Given the description of an element on the screen output the (x, y) to click on. 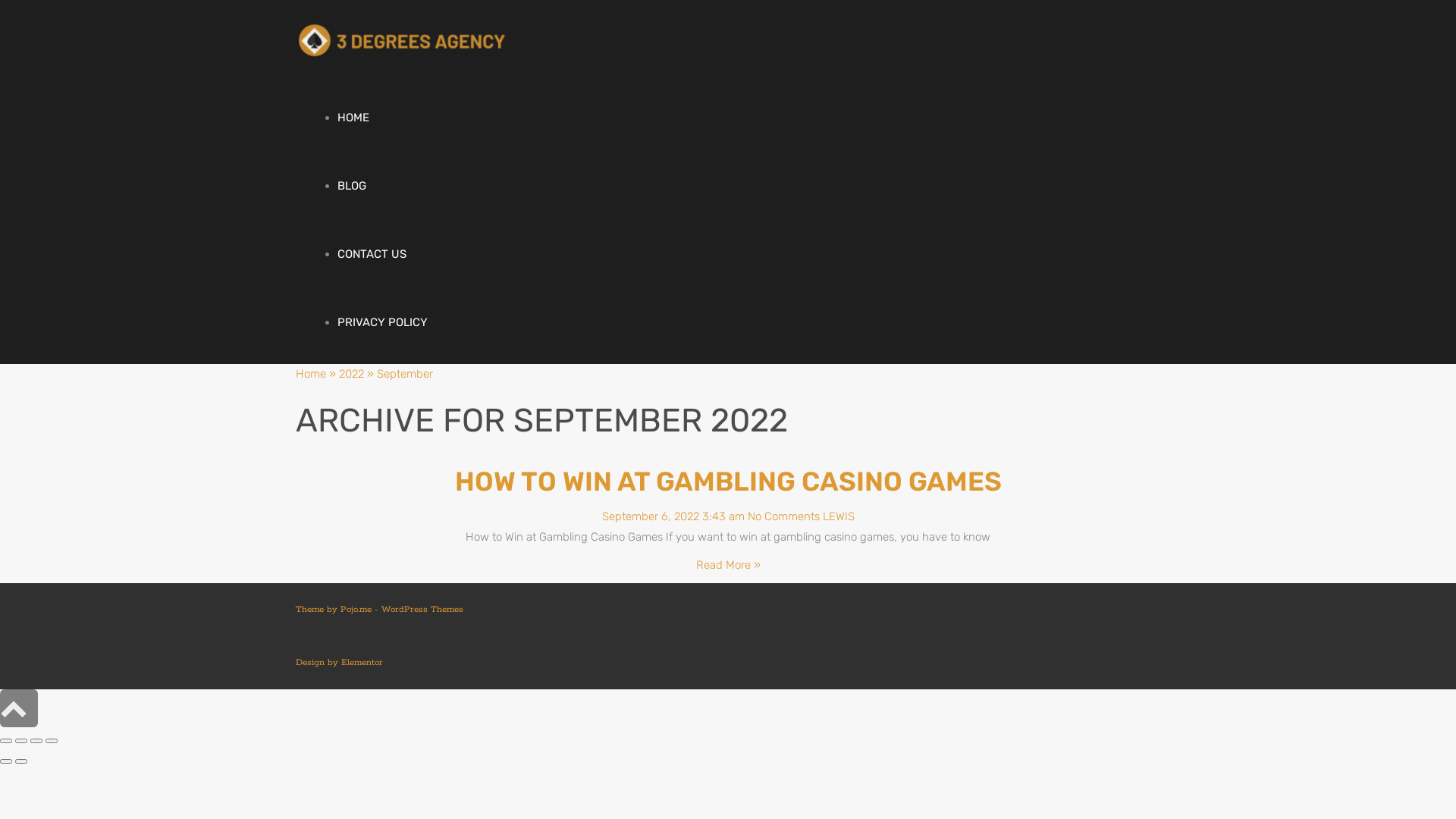
Pojo.me Element type: text (355, 609)
Scroll to top Element type: text (13, 707)
CONTACT US Element type: text (371, 253)
Share Element type: hover (21, 740)
BLOG Element type: text (351, 185)
Elementor Element type: text (361, 662)
PRIVACY POLICY Element type: text (382, 322)
Previous (arrow left) Element type: hover (6, 761)
Next (arrow right) Element type: hover (21, 761)
Toggle fullscreen Element type: hover (36, 740)
Close (Esc) Element type: hover (6, 740)
HOW TO WIN AT GAMBLING CASINO GAMES Element type: text (728, 481)
2022 Element type: text (352, 373)
No Comments Element type: text (783, 516)
HOME Element type: text (353, 117)
LEWIS Element type: text (837, 516)
September 6, 2022 Element type: text (650, 516)
Home Element type: text (312, 373)
Zoom in/out Element type: hover (51, 740)
